Given the description of an element on the screen output the (x, y) to click on. 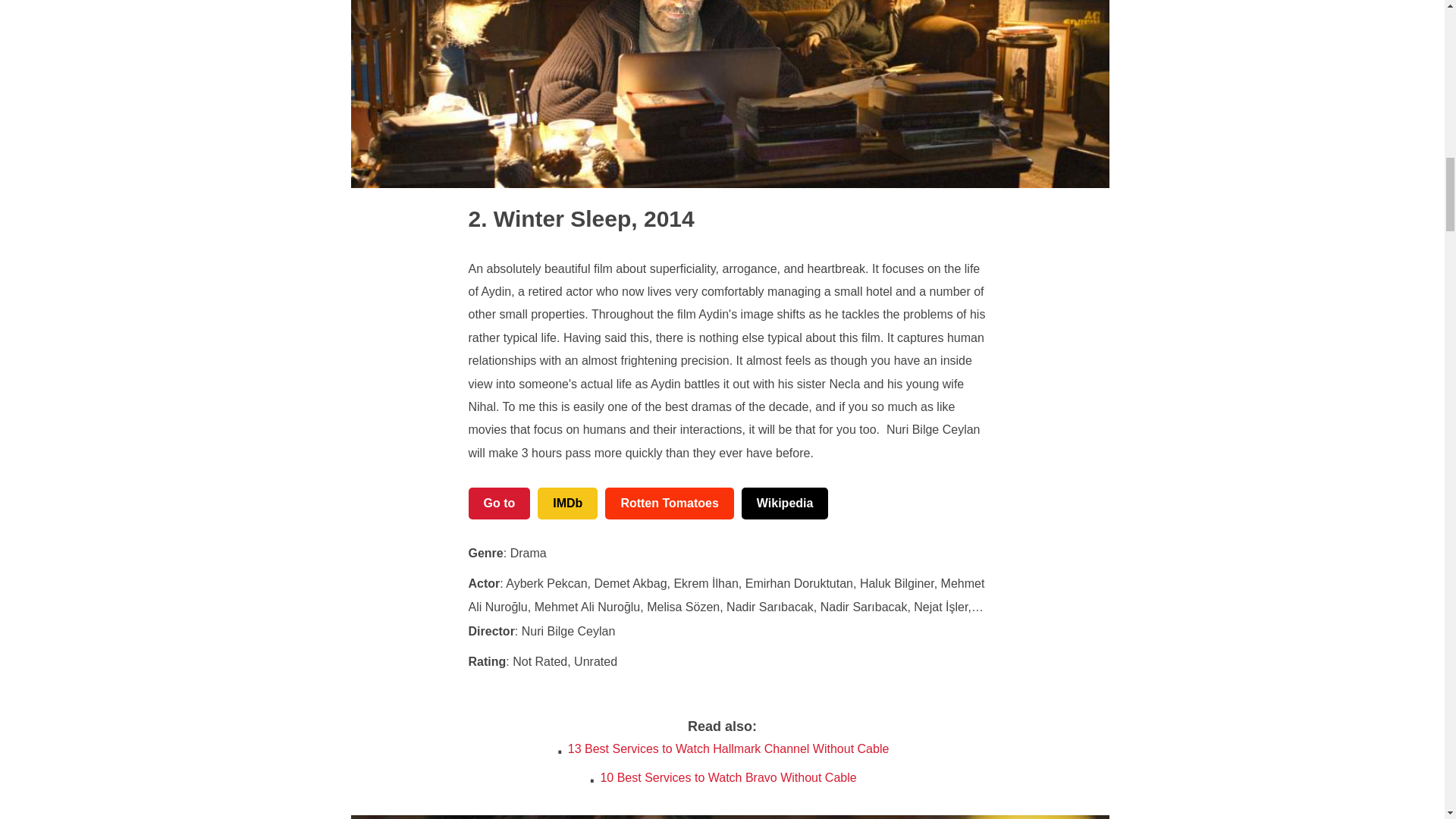
Winter Sleep (549, 218)
